Given the description of an element on the screen output the (x, y) to click on. 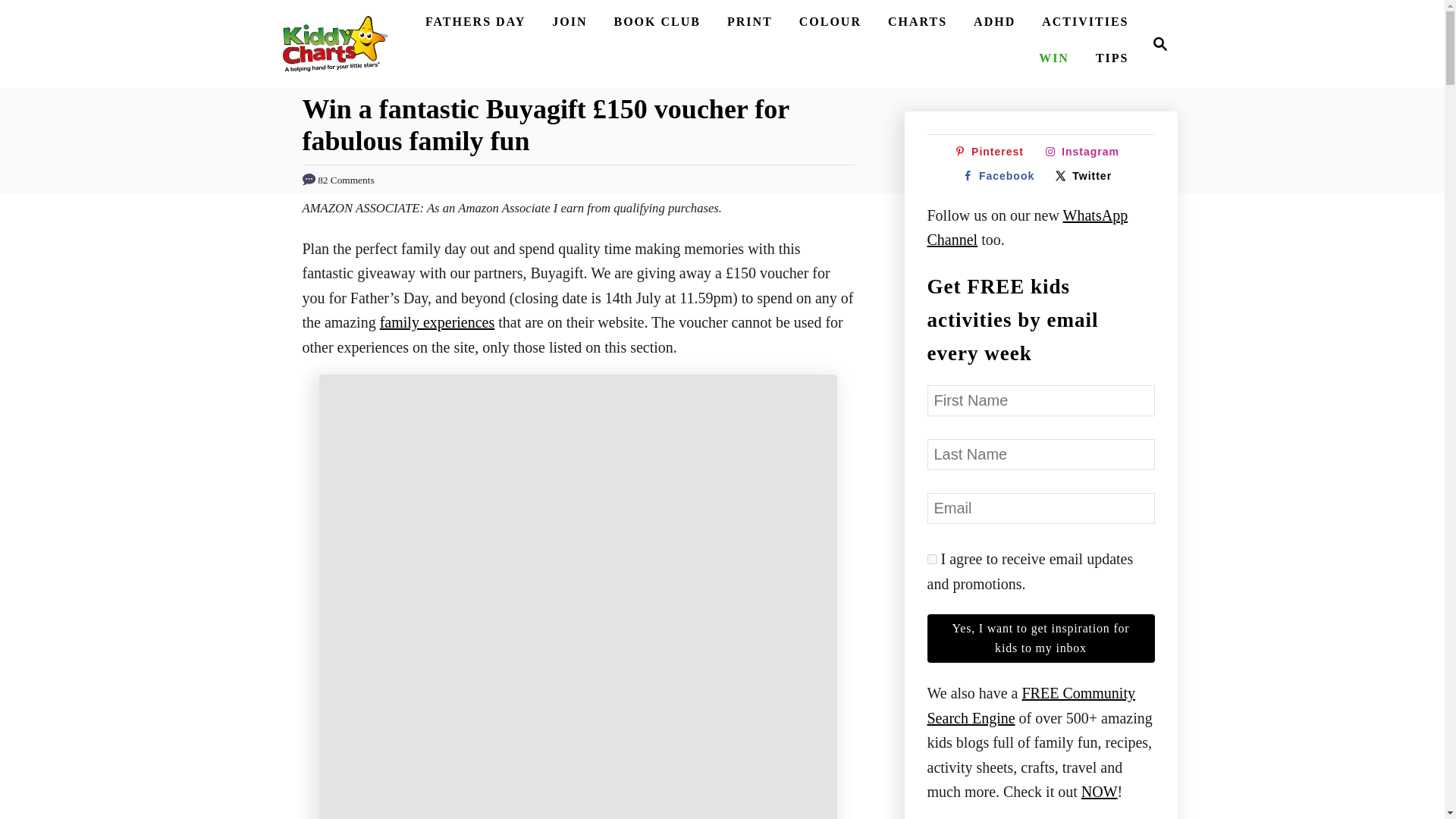
FATHERS DAY (1155, 43)
KiddyCharts (474, 21)
Follow on Pinterest (334, 43)
CHARTS (992, 151)
Follow on Instagram (917, 21)
1 (1086, 151)
BOOK CLUB (931, 559)
COLOUR (657, 21)
Magnifying Glass (830, 21)
JOIN (1160, 44)
ADHD (569, 21)
PRINT (994, 21)
ACTIVITIES (749, 21)
